Given the description of an element on the screen output the (x, y) to click on. 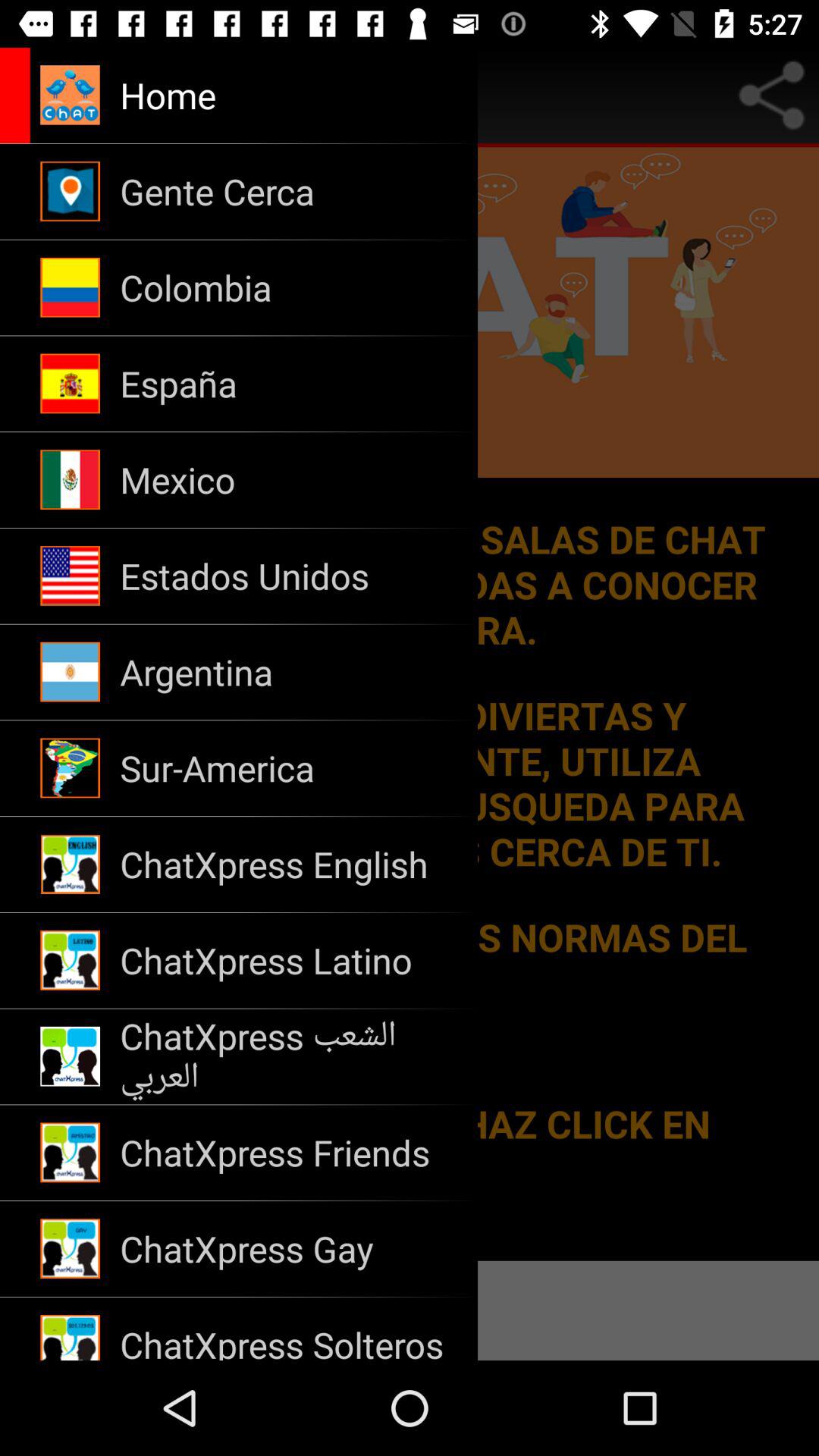
advance (19, 95)
